Given the description of an element on the screen output the (x, y) to click on. 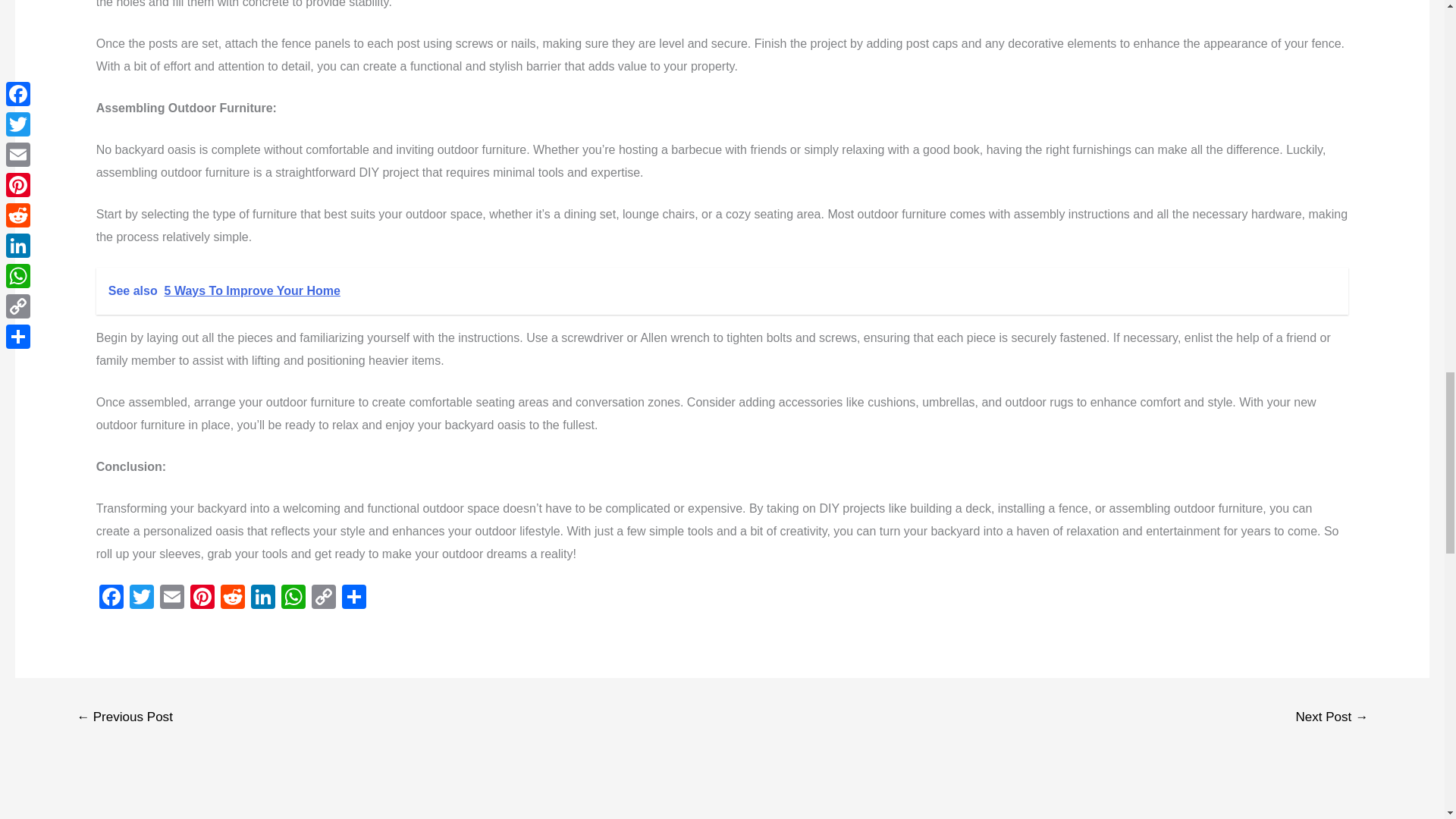
Pinterest (201, 598)
Copy Link (323, 598)
LinkedIn (262, 598)
WhatsApp (293, 598)
Twitter (141, 598)
Facebook (111, 598)
Reddit (231, 598)
Email (172, 598)
